Given the description of an element on the screen output the (x, y) to click on. 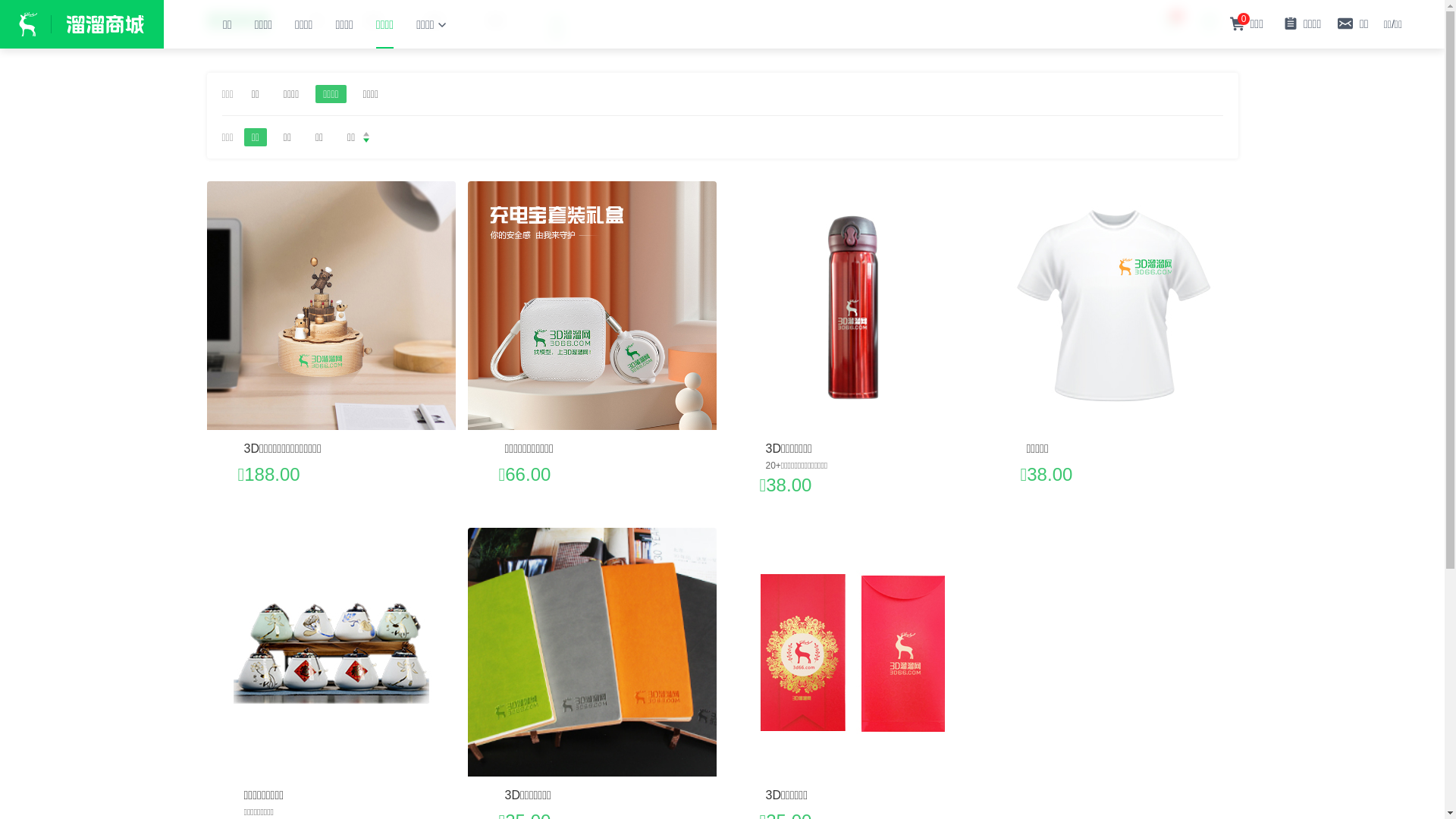
0 Element type: text (1169, 21)
